Given the description of an element on the screen output the (x, y) to click on. 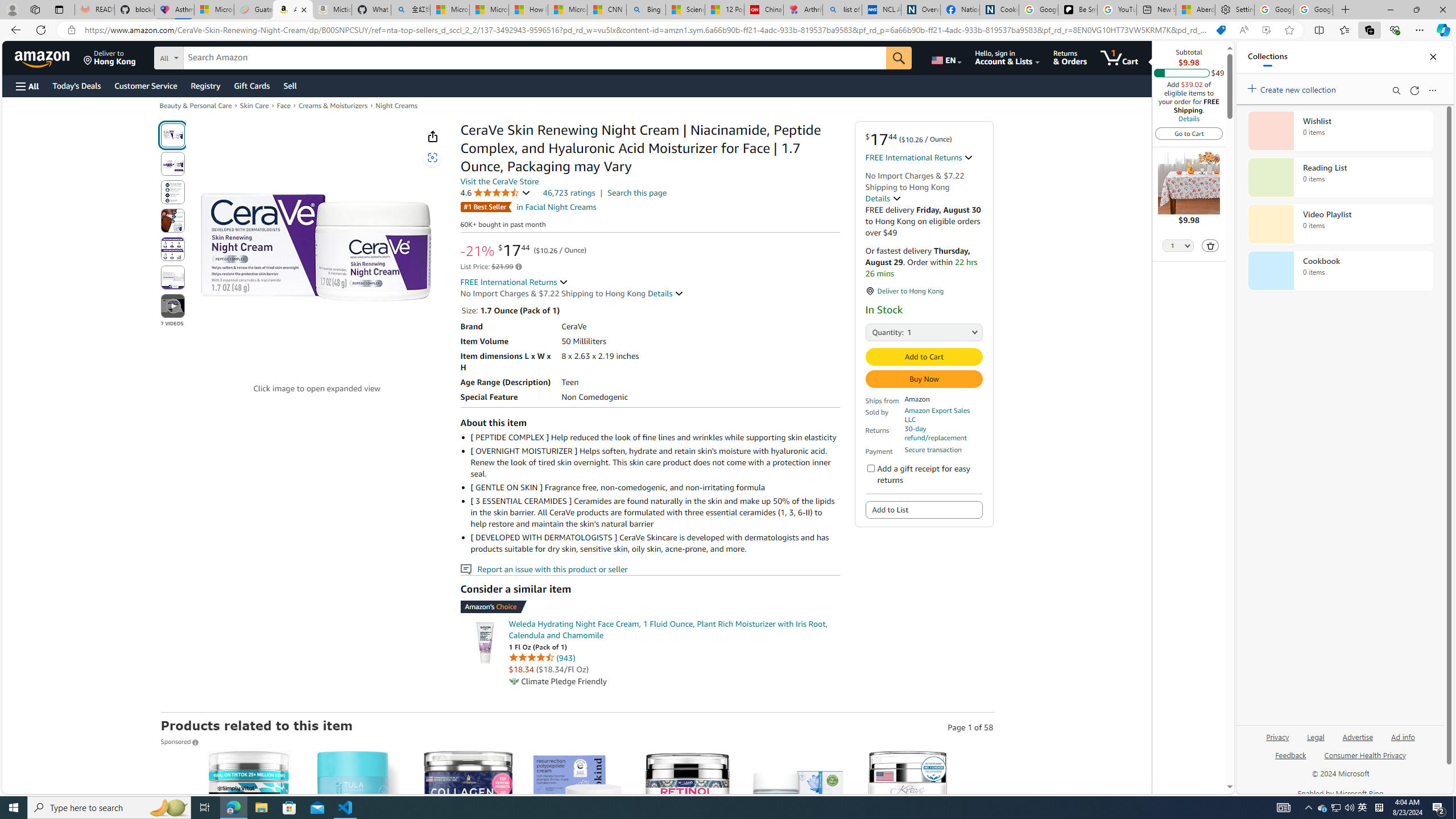
Wishlist collection, 0 items (1339, 130)
Visit the CeraVe Store (499, 181)
Night Creams (396, 105)
